Given the description of an element on the screen output the (x, y) to click on. 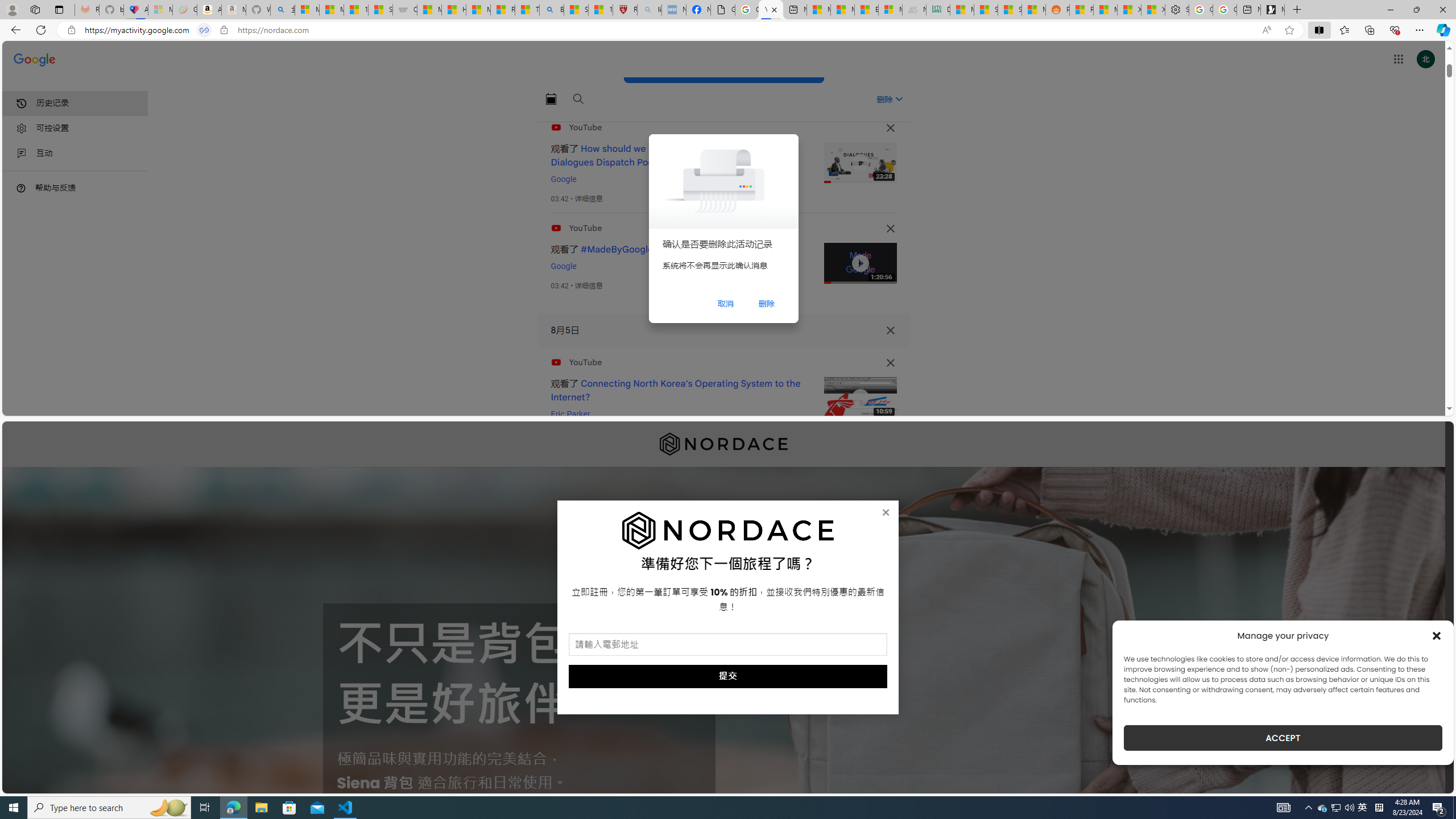
Class: IVR0f NMm5M (860, 397)
R******* | Trusted Community Engagement and Contributions (1080, 9)
Class: asE2Ub NMm5M (898, 99)
